Given the description of an element on the screen output the (x, y) to click on. 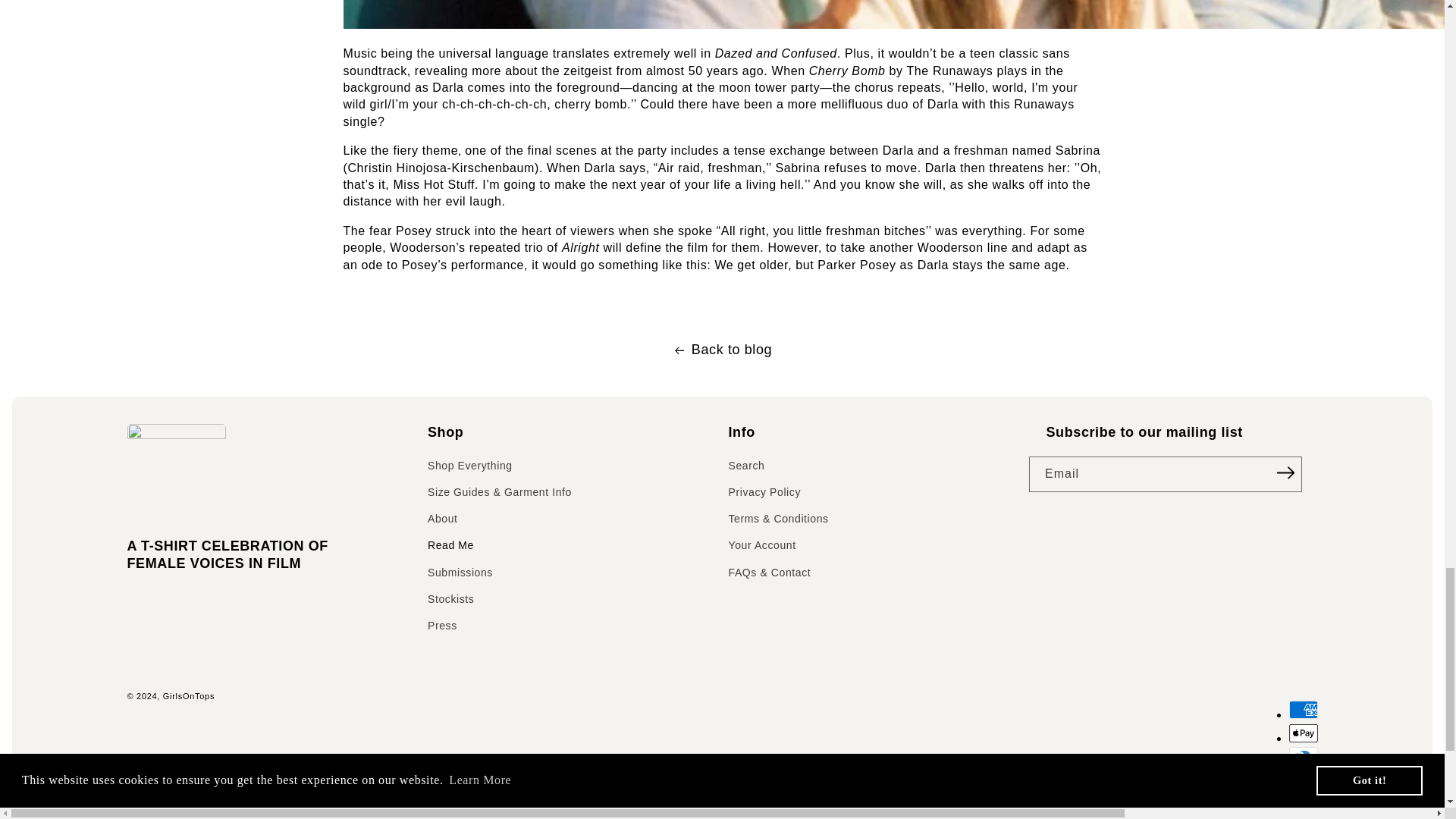
Apple Pay (1302, 732)
Diners Club (1302, 755)
American Express (1302, 710)
Back to blog (722, 349)
Maestro (1302, 817)
Google Pay (1302, 802)
Discover (1302, 778)
